Given the description of an element on the screen output the (x, y) to click on. 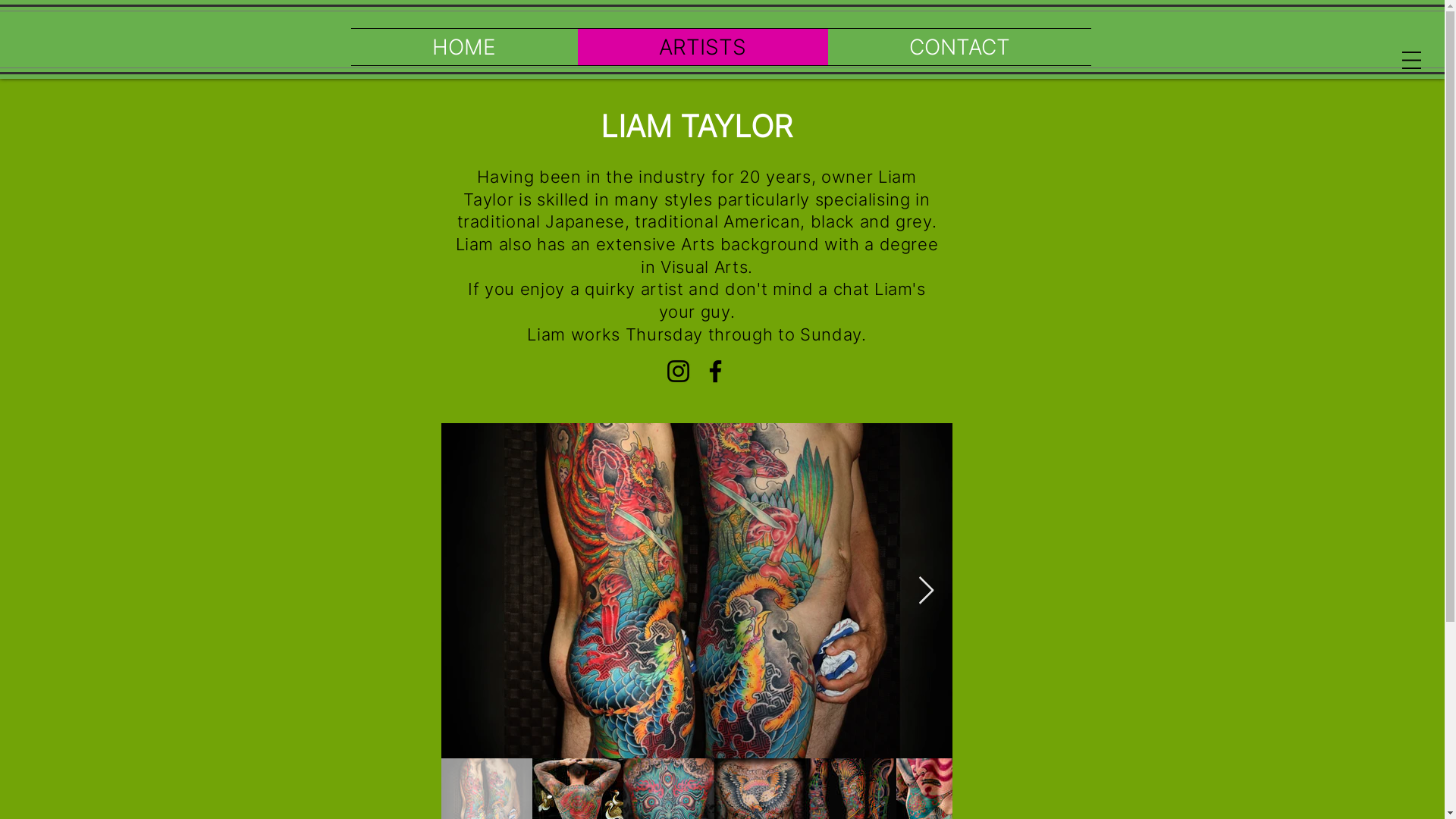
ARTISTS Element type: text (702, 46)
HOME Element type: text (463, 46)
CONTACT Element type: text (959, 46)
